Given the description of an element on the screen output the (x, y) to click on. 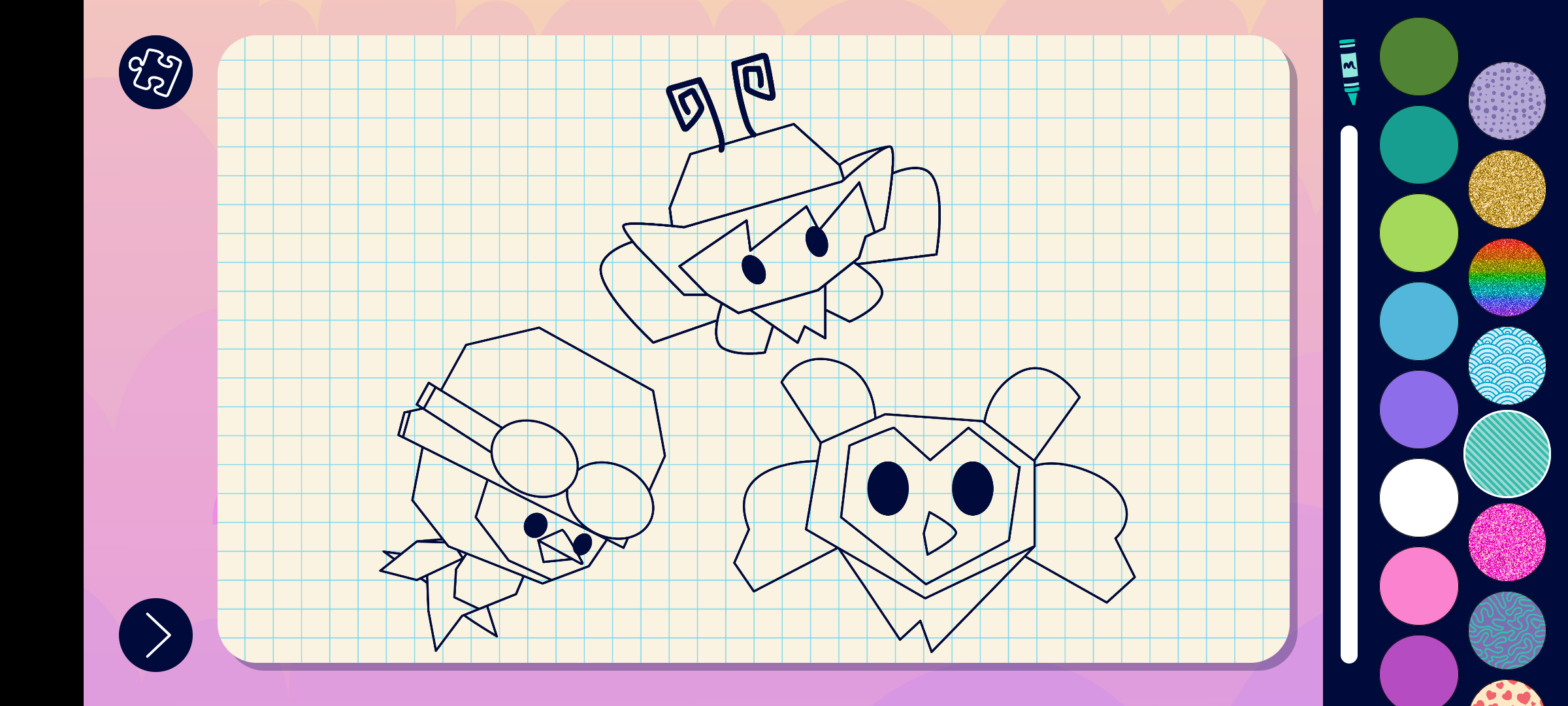
coloring background (1507, 101)
coloring background (1507, 189)
coloring background (1507, 277)
coloring background (1507, 365)
coloring background (1506, 454)
coloring background (1507, 542)
coloring background (1507, 630)
